Given the description of an element on the screen output the (x, y) to click on. 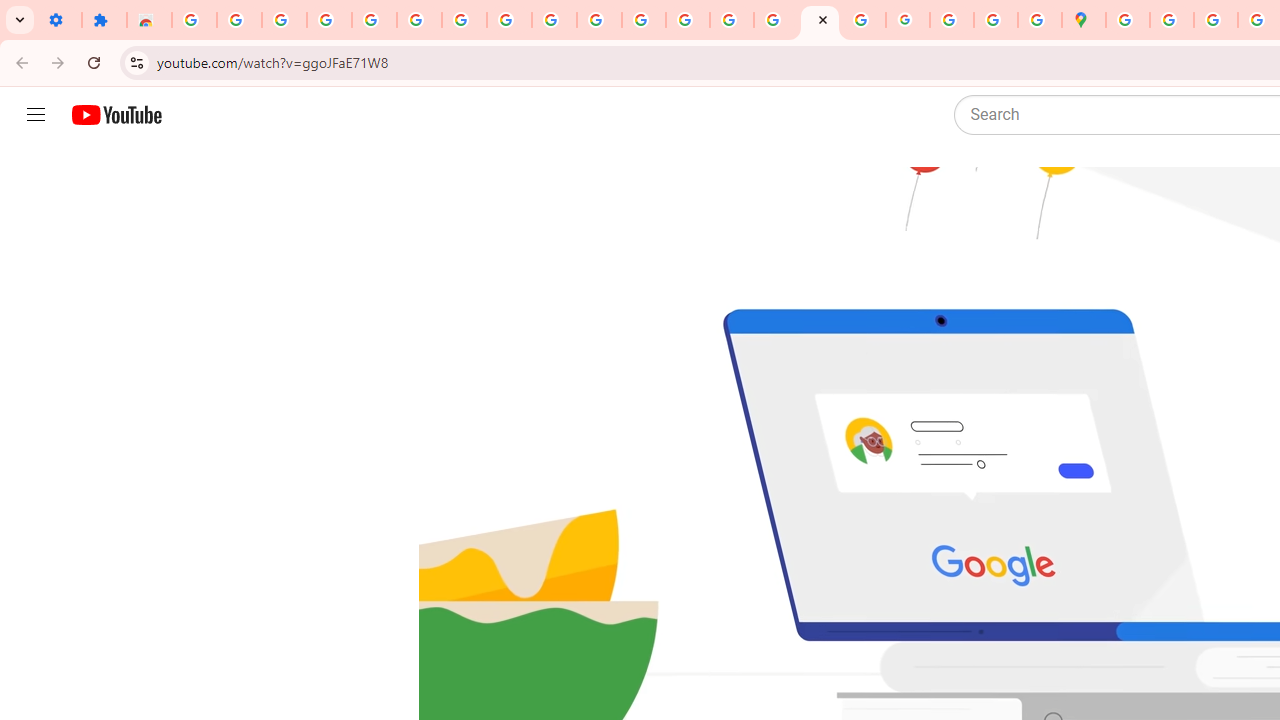
Sign in - Google Accounts (374, 20)
Delete photos & videos - Computer - Google Photos Help (239, 20)
Reviews: Helix Fruit Jump Arcade Game (148, 20)
YouTube Home (116, 115)
Settings - On startup (59, 20)
